Given the description of an element on the screen output the (x, y) to click on. 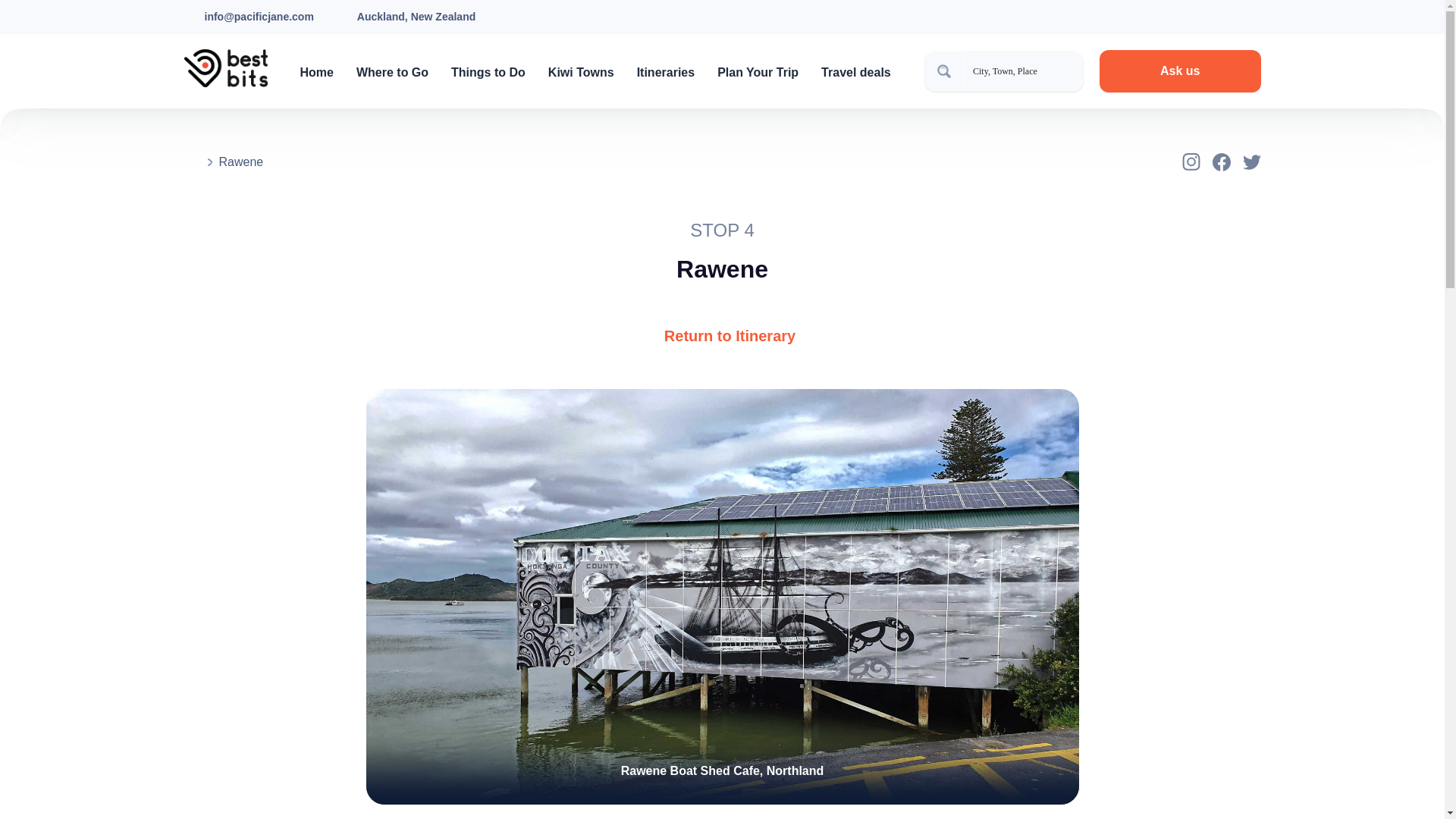
Home (316, 72)
Kiwi Towns (581, 72)
Itineraries (665, 72)
Things to Do (488, 72)
Where to Go (392, 72)
